Given the description of an element on the screen output the (x, y) to click on. 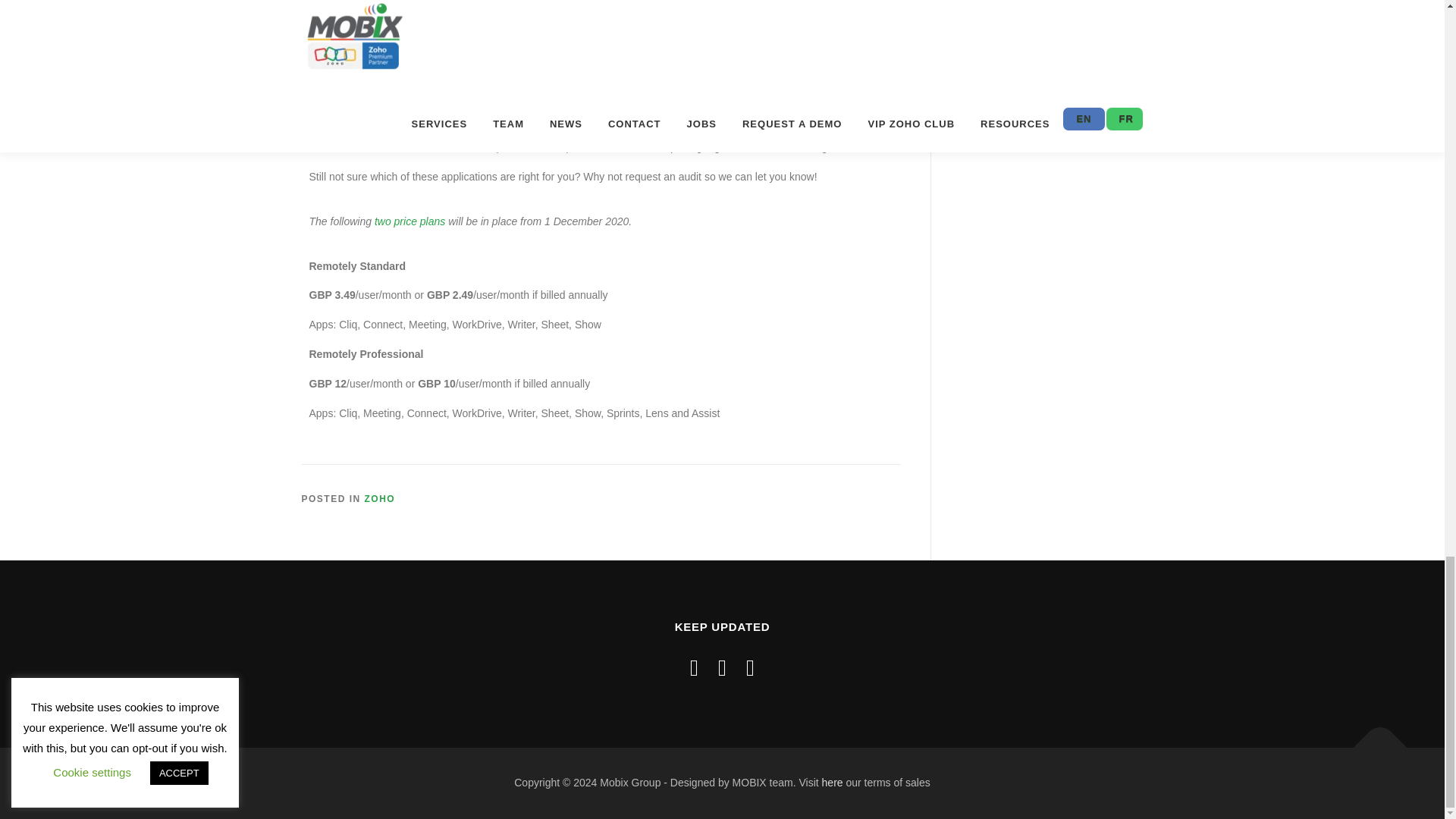
Back To Top (1372, 740)
two price plans (409, 221)
ZOHO (380, 498)
